Given the description of an element on the screen output the (x, y) to click on. 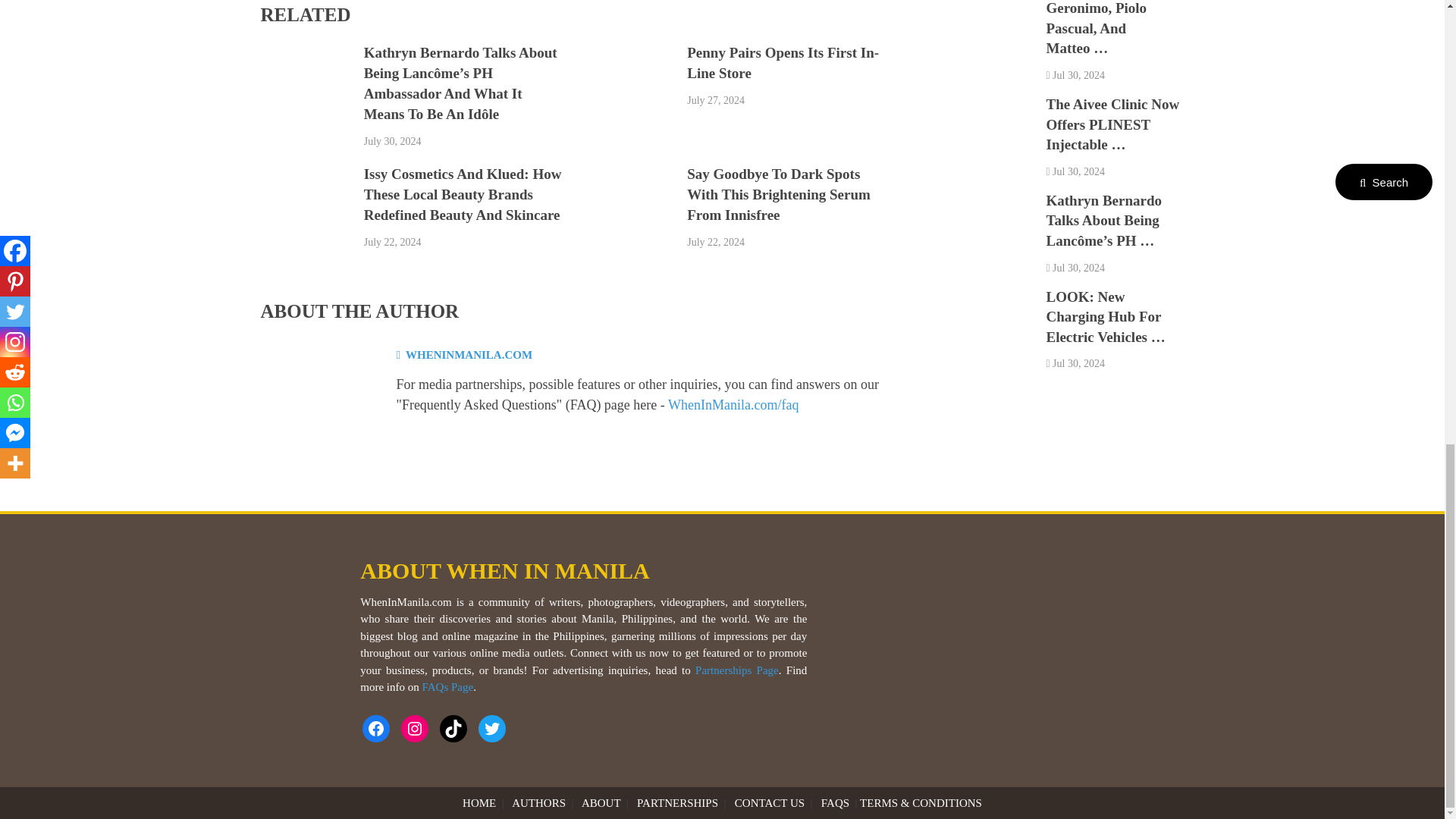
Penny Pairs Opens Its First In-Line Store (783, 63)
Penny Pairs Opens Its First In-Line Store 3 (627, 90)
